Given the description of an element on the screen output the (x, y) to click on. 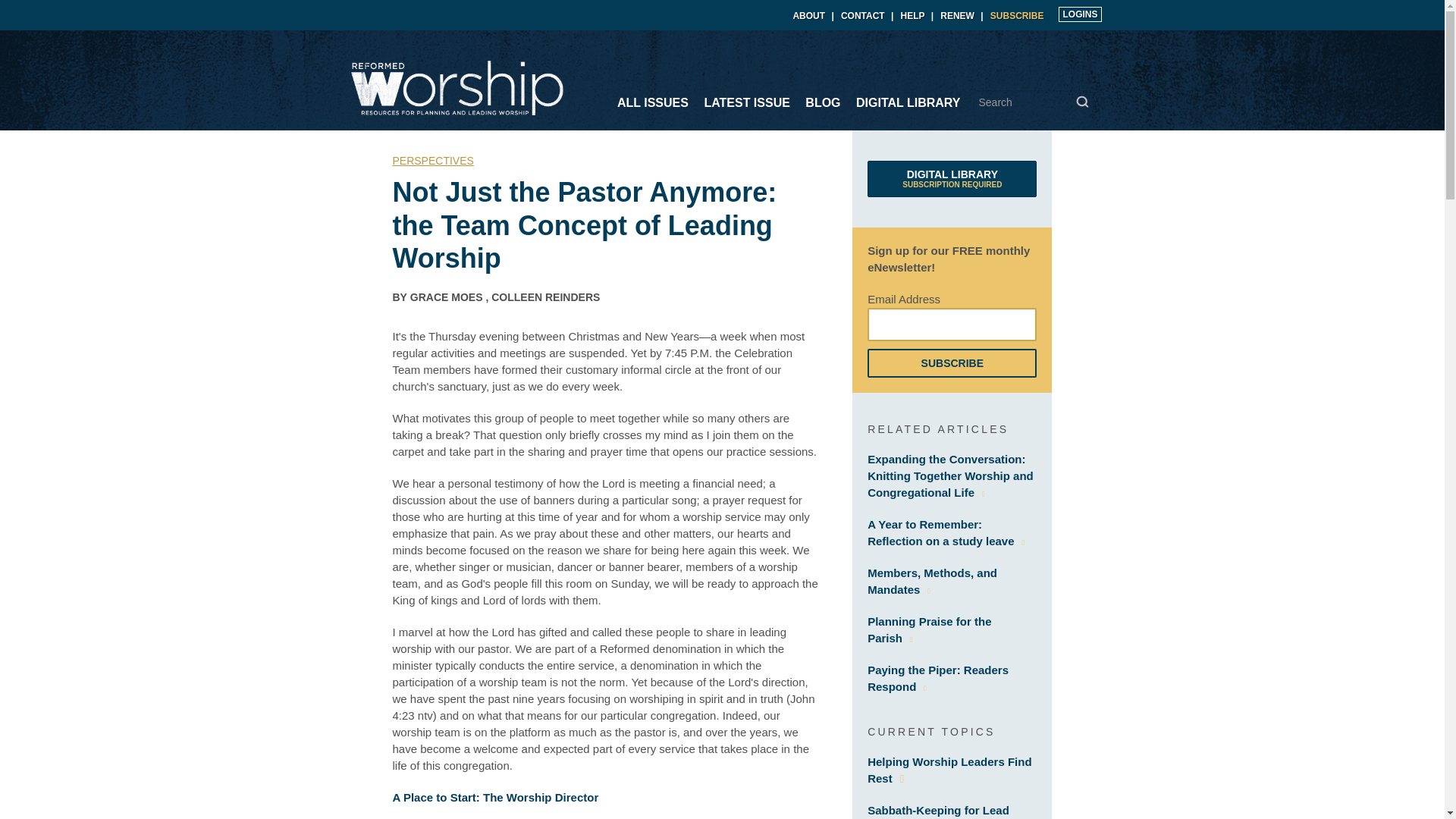
DIGITAL LIBRARY (908, 102)
Paying the Piper: Readers Respond (938, 677)
Helping Worship Leaders Find Rest (948, 769)
LATEST ISSUE (951, 178)
Search (746, 102)
Sabbath-Keeping for Lead Worshipers (1082, 101)
Skip to main content (938, 811)
Search (932, 581)
RENEW (1082, 101)
HELP (957, 15)
Enter the terms you wish to search for. (912, 15)
GRACE MOES (1032, 102)
ABOUT (446, 297)
